Given the description of an element on the screen output the (x, y) to click on. 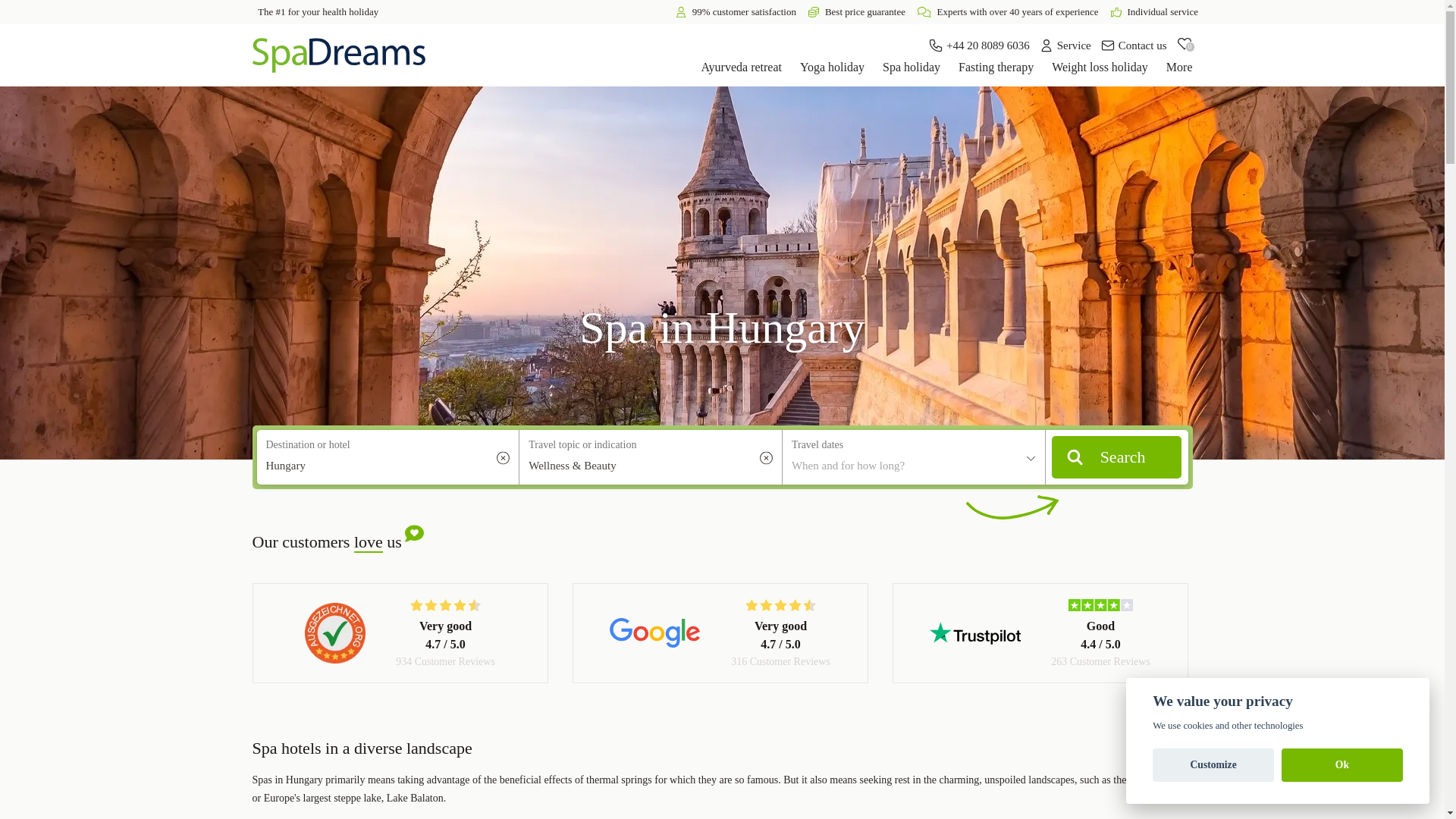
Yoga holiday (831, 66)
More (1179, 66)
Fasting therapy (995, 66)
Spa holiday (911, 66)
Contact us (1133, 45)
Hungary (387, 457)
Ayurveda retreat (741, 66)
Search (1116, 456)
Service (1064, 45)
Weight loss holiday (1099, 66)
